Given the description of an element on the screen output the (x, y) to click on. 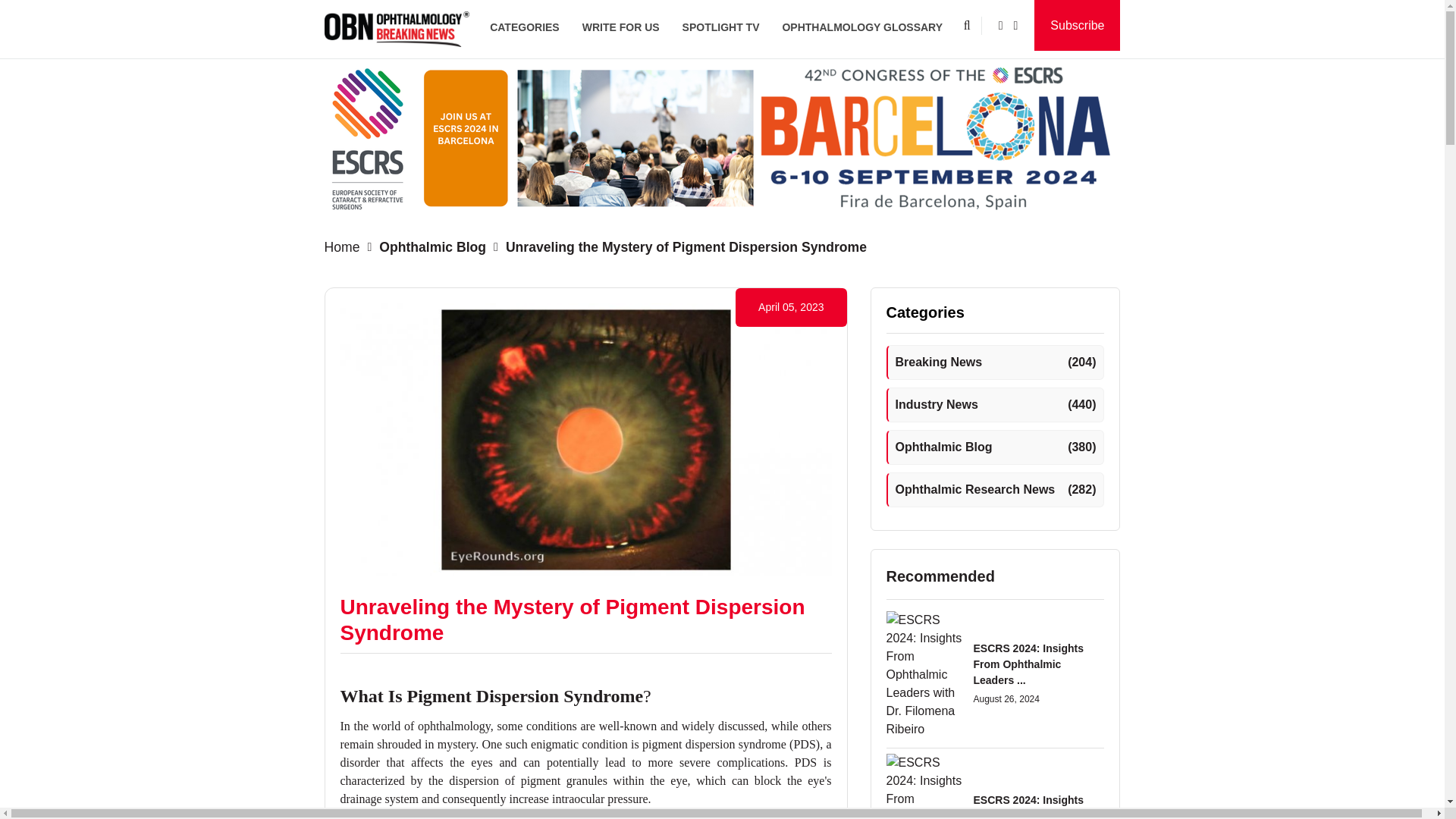
CATEGORIES (524, 27)
Subscribe (1076, 25)
OPHTHALMOLOGY GLOSSARY (861, 27)
Ophthalmic Blog (429, 247)
SPOTLIGHT TV (721, 27)
Home (346, 247)
WRITE FOR US (620, 27)
